Given the description of an element on the screen output the (x, y) to click on. 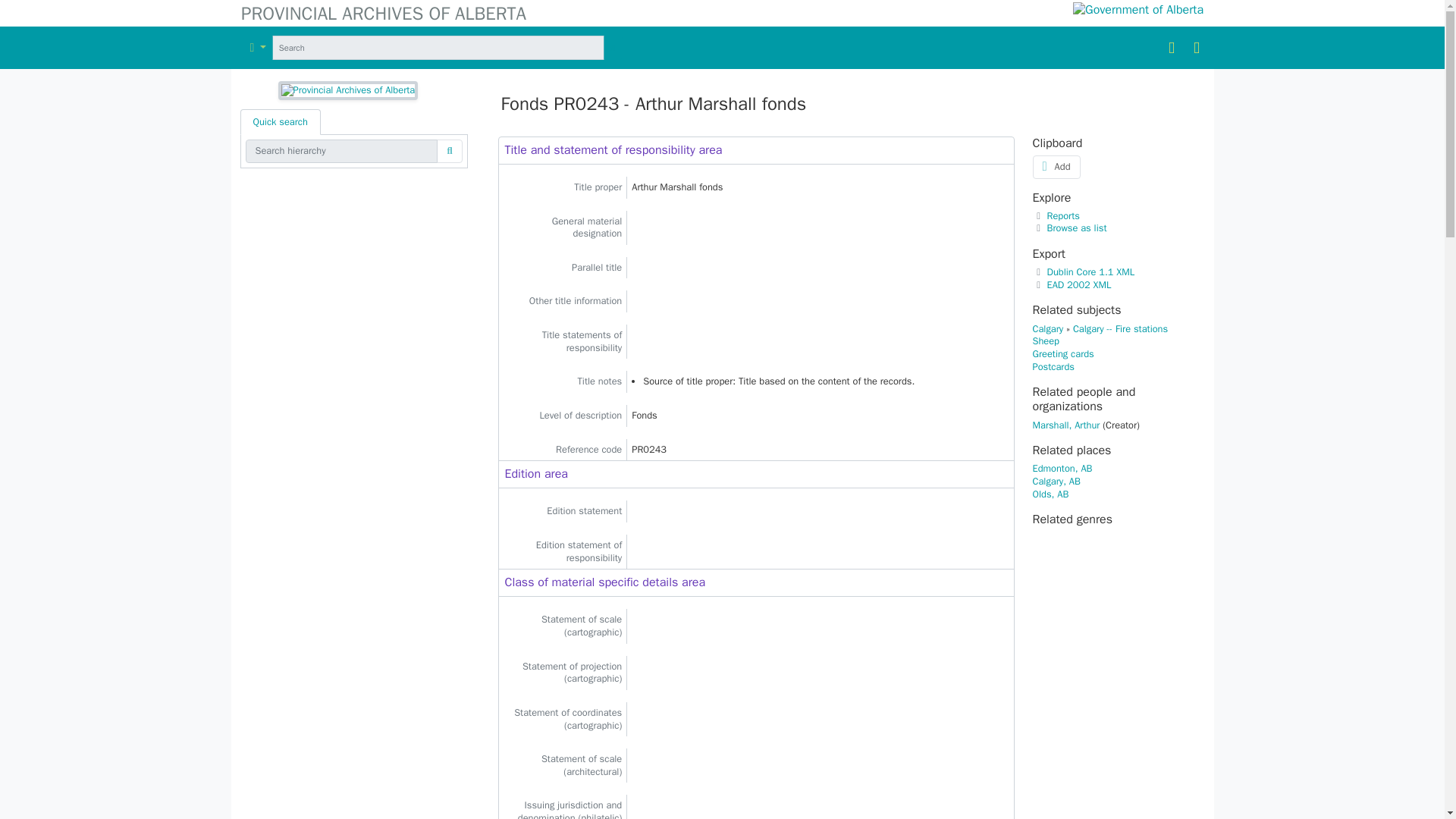
Calgary (1048, 328)
Clipboard (1170, 47)
Skip to main content (44, 9)
Provincial Archives of Alberta (713, 13)
Calgary -- Fire stations (1120, 328)
Reports (1056, 215)
PROVINCIAL ARCHIVES OF ALBERTA (713, 13)
Dublin Core 1.1 XML (1083, 272)
Clipboard (1170, 47)
Language (1197, 47)
Search options (257, 47)
Browse as list (1069, 227)
Add (1056, 167)
Greeting cards (1063, 354)
Search in browse page (612, 47)
